Given the description of an element on the screen output the (x, y) to click on. 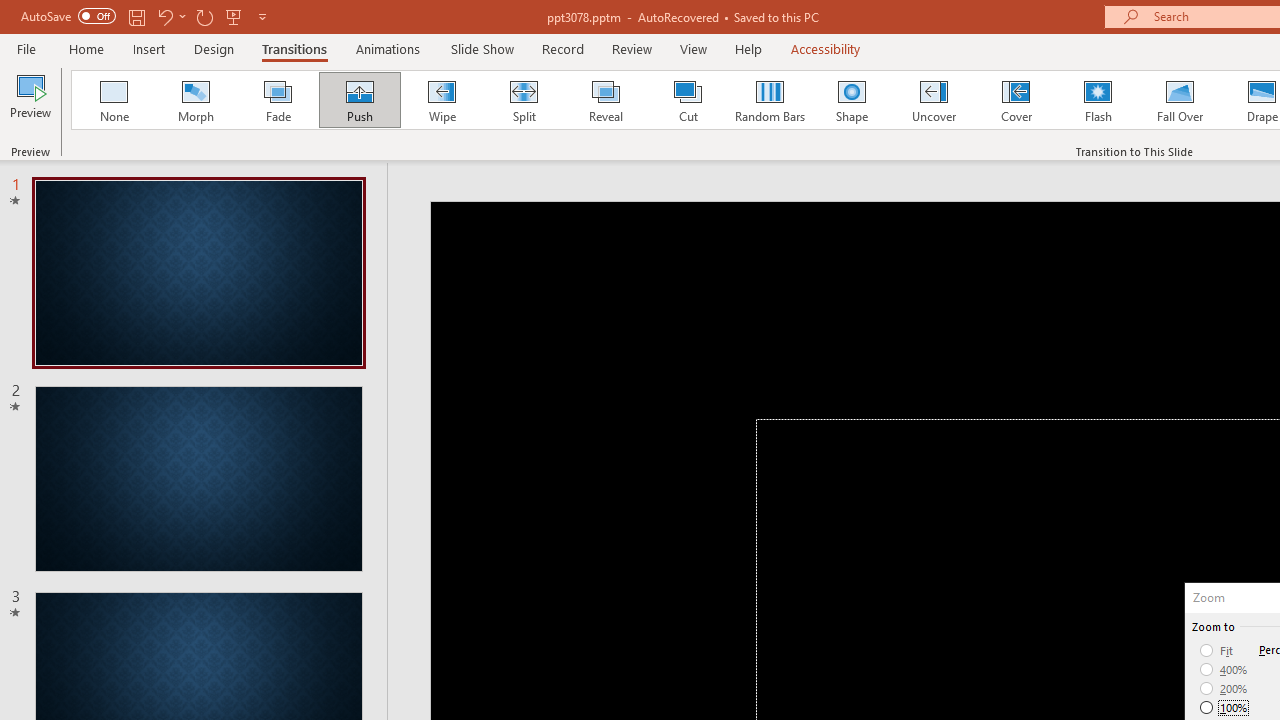
400% (1224, 669)
Reveal (605, 100)
Morph (195, 100)
Fall Over (1180, 100)
Shape (852, 100)
200% (1224, 688)
